Given the description of an element on the screen output the (x, y) to click on. 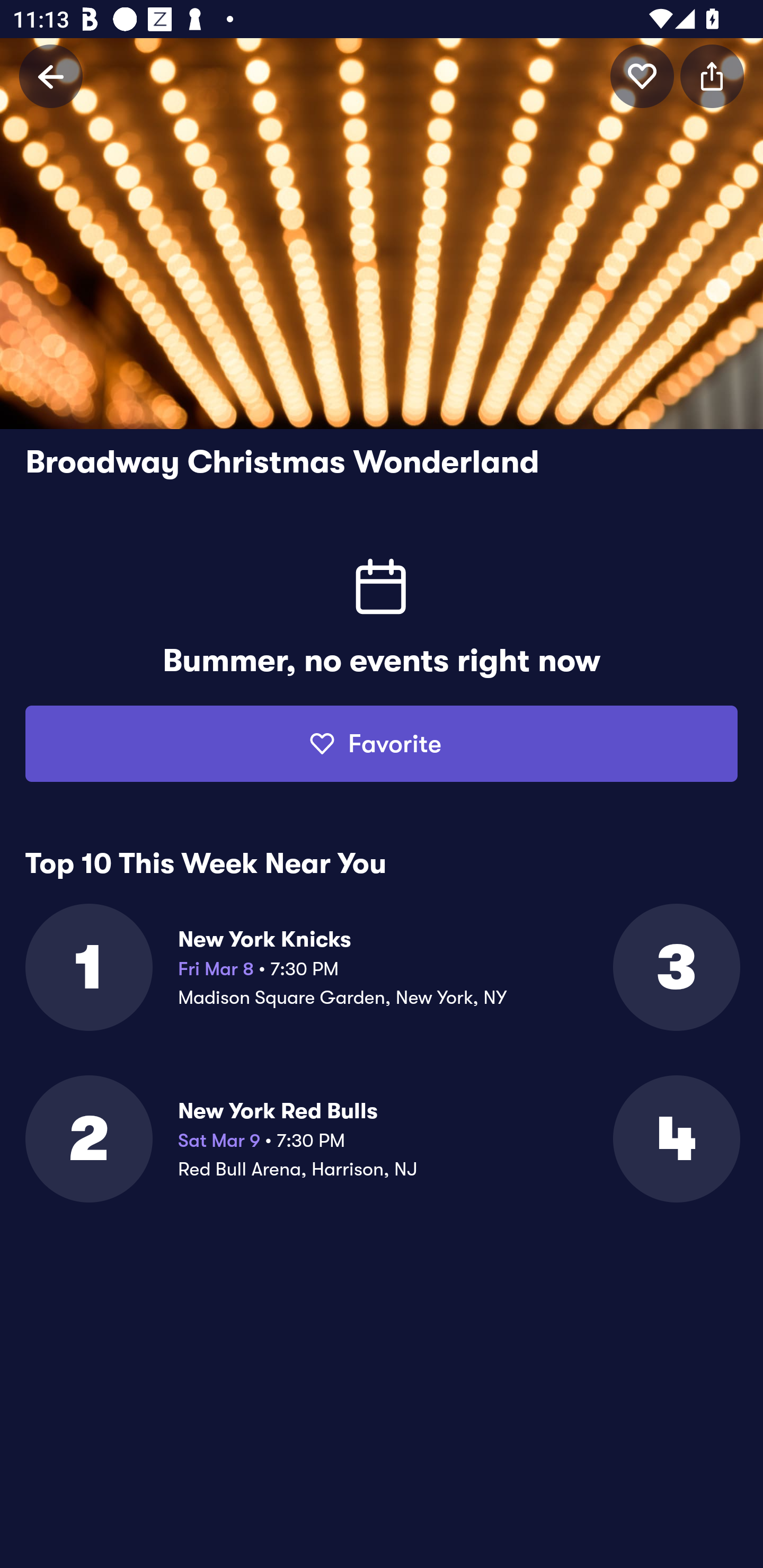
Back (50, 75)
icon button (641, 75)
icon button (711, 75)
Favorite (381, 743)
3 (675, 967)
4 (675, 1138)
